Given the description of an element on the screen output the (x, y) to click on. 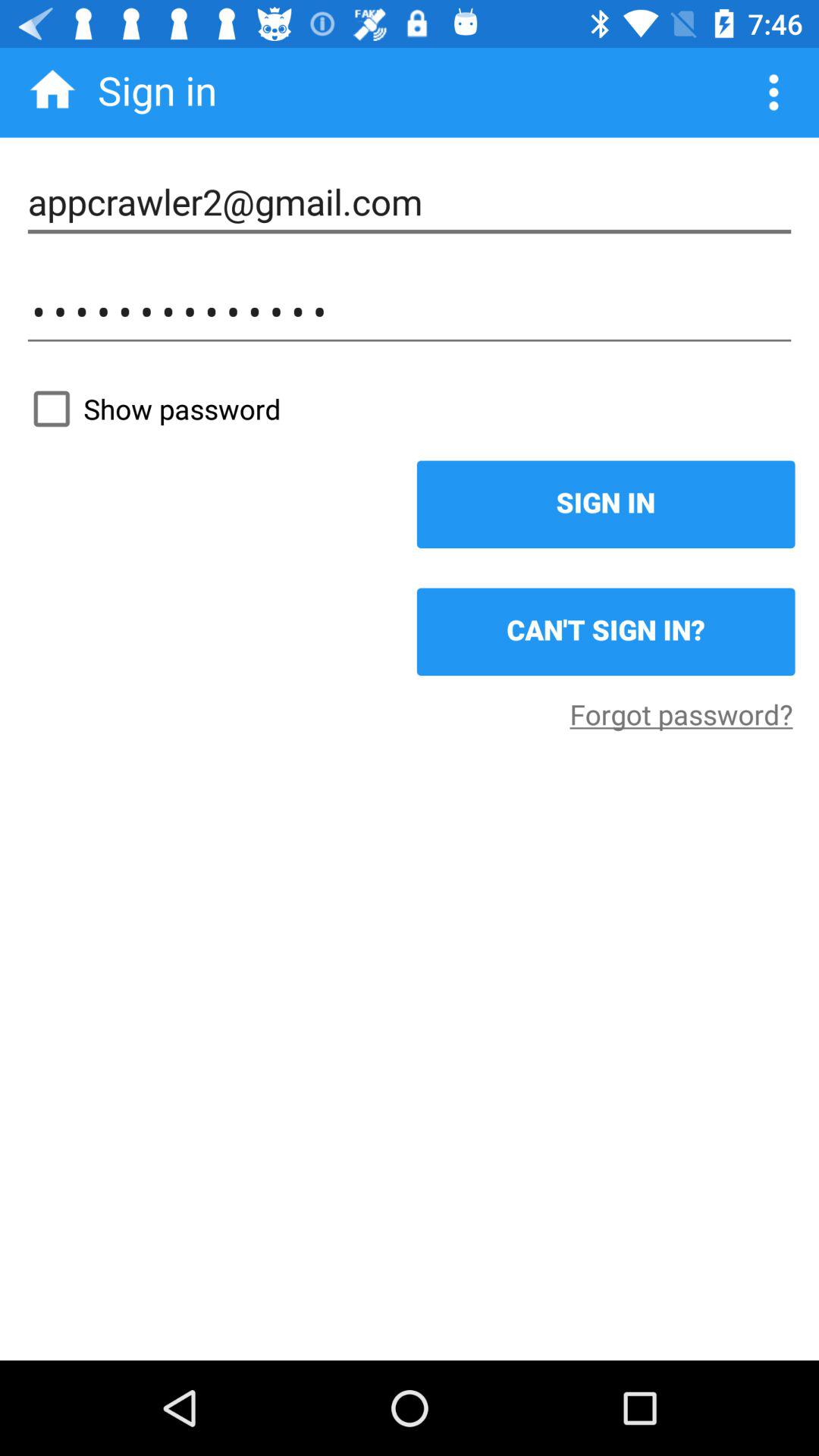
choose the item below sign in icon (605, 631)
